Given the description of an element on the screen output the (x, y) to click on. 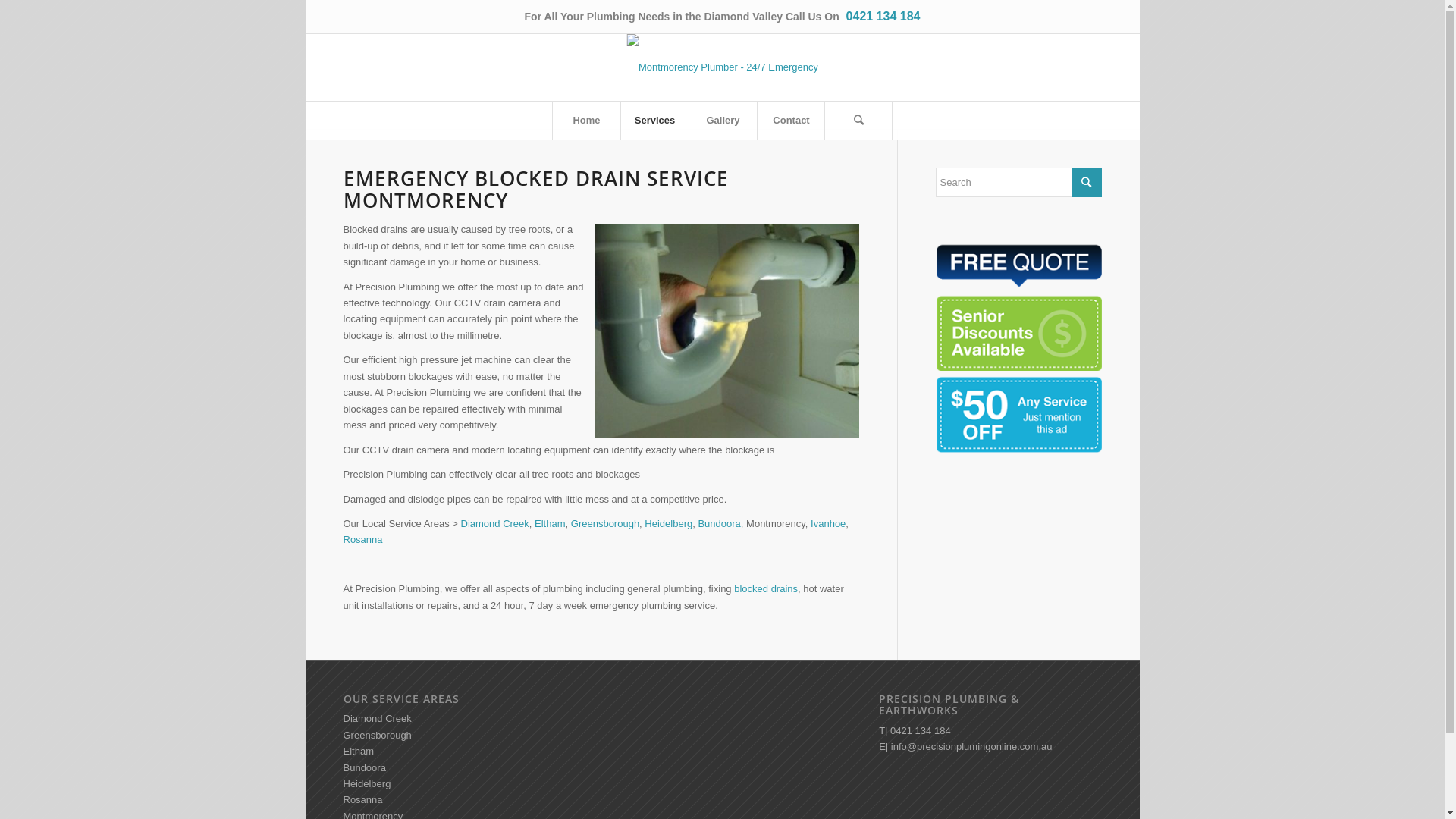
Greensborough Element type: text (376, 734)
Diamond Creek Element type: text (376, 718)
Greensborough Element type: text (605, 523)
Home Element type: text (586, 120)
Gallery Element type: text (722, 120)
Diamond Creek Element type: text (495, 523)
Rosanna Element type: text (362, 799)
0421 134 184 Element type: text (881, 15)
Heidelberg Element type: text (366, 783)
Contact Element type: text (790, 120)
Rosanna Element type: text (362, 539)
Eltham Element type: text (549, 523)
Services Element type: text (654, 120)
Eltham Element type: text (357, 750)
Bundoora Element type: text (718, 523)
blocked drains Element type: text (765, 588)
Heidelberg Element type: text (668, 523)
Bundoora Element type: text (363, 767)
Ivanhoe Element type: text (827, 523)
